Given the description of an element on the screen output the (x, y) to click on. 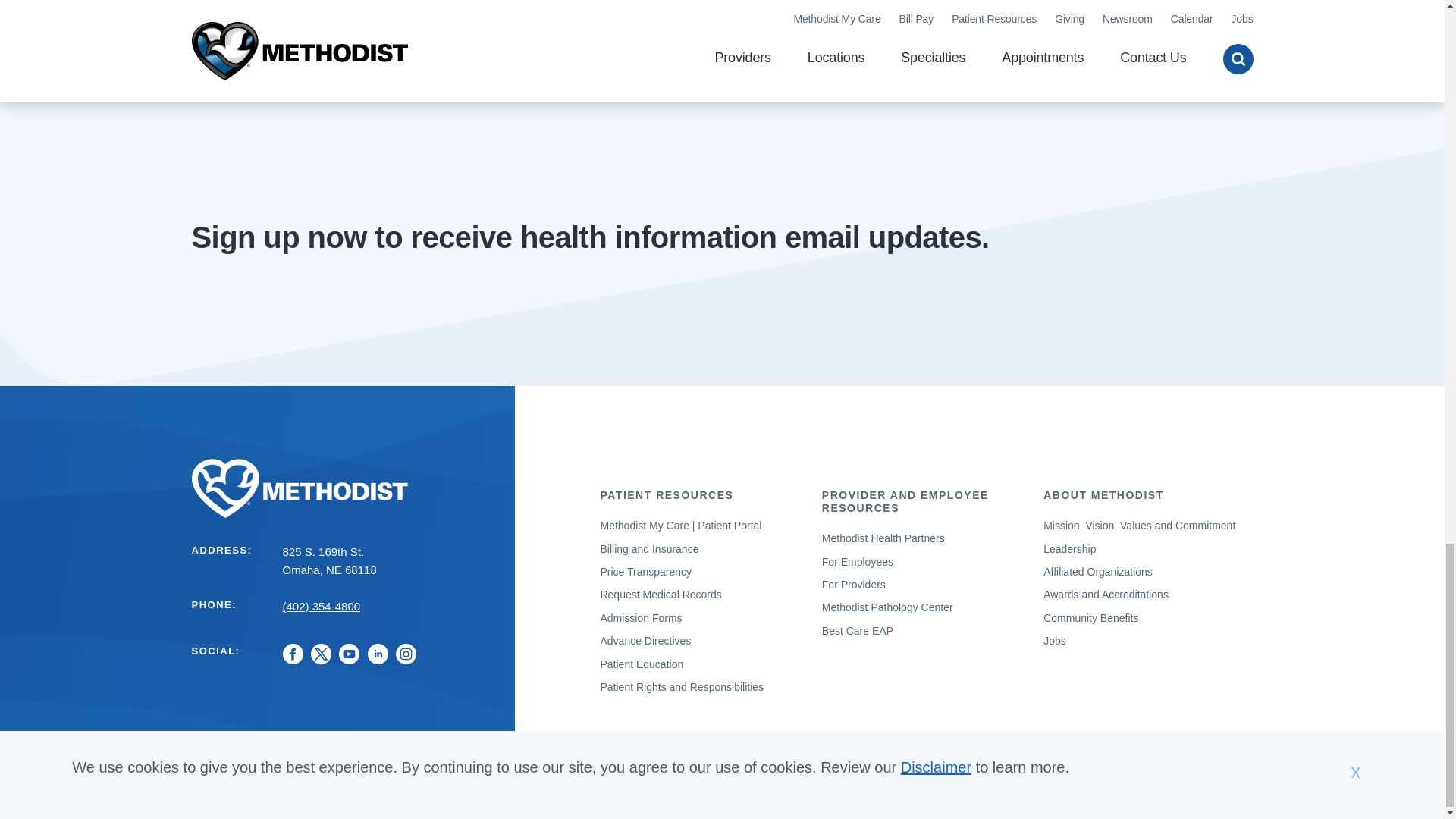
Home (343, 488)
Methodist Health System (343, 488)
